Given the description of an element on the screen output the (x, y) to click on. 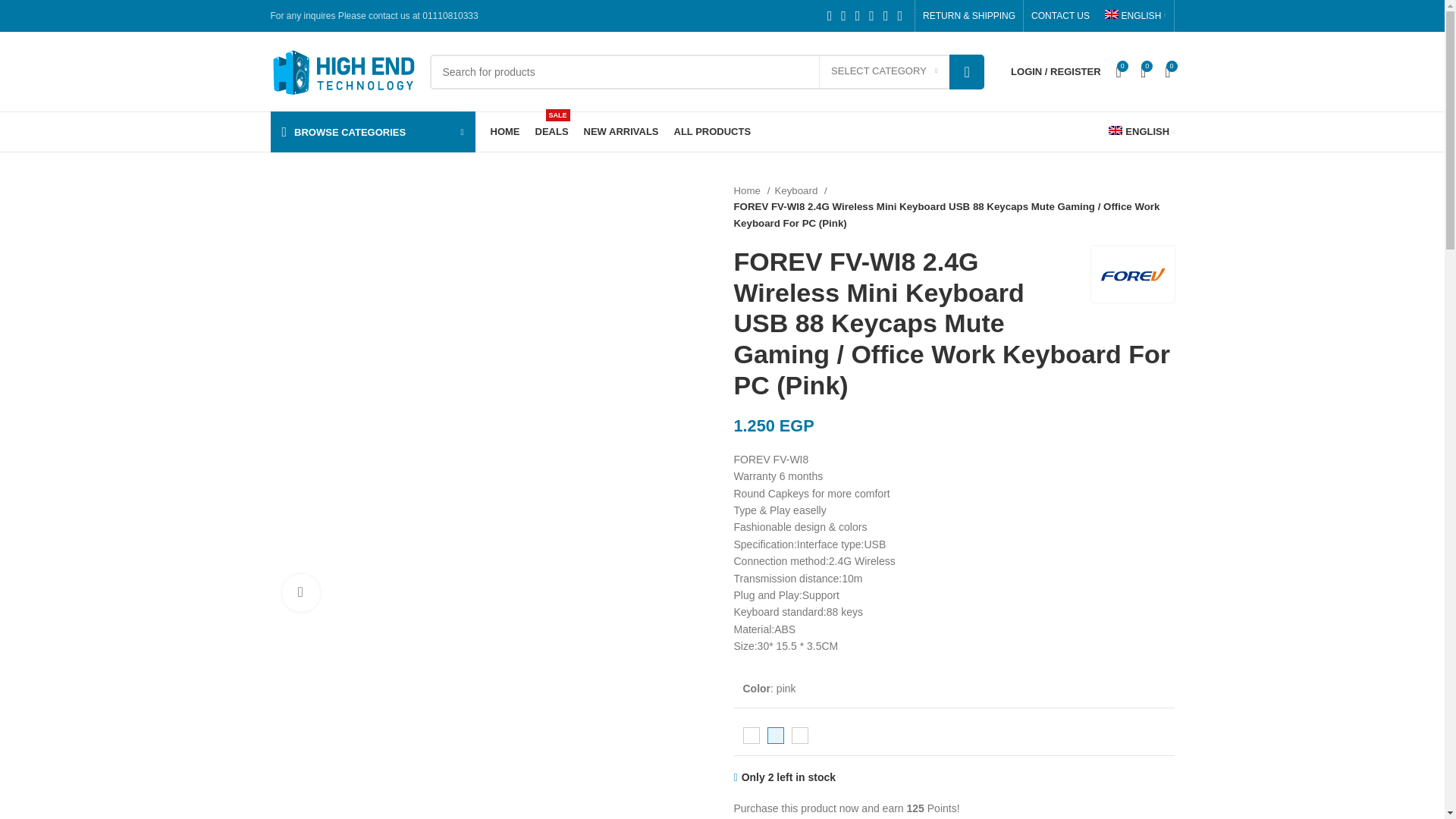
My account (1055, 71)
SELECT CATEGORY (883, 71)
ENGLISH (1135, 15)
CONTACT US (1059, 15)
English (1140, 132)
Search for products (706, 71)
SELECT CATEGORY (883, 71)
English (1135, 15)
